Given the description of an element on the screen output the (x, y) to click on. 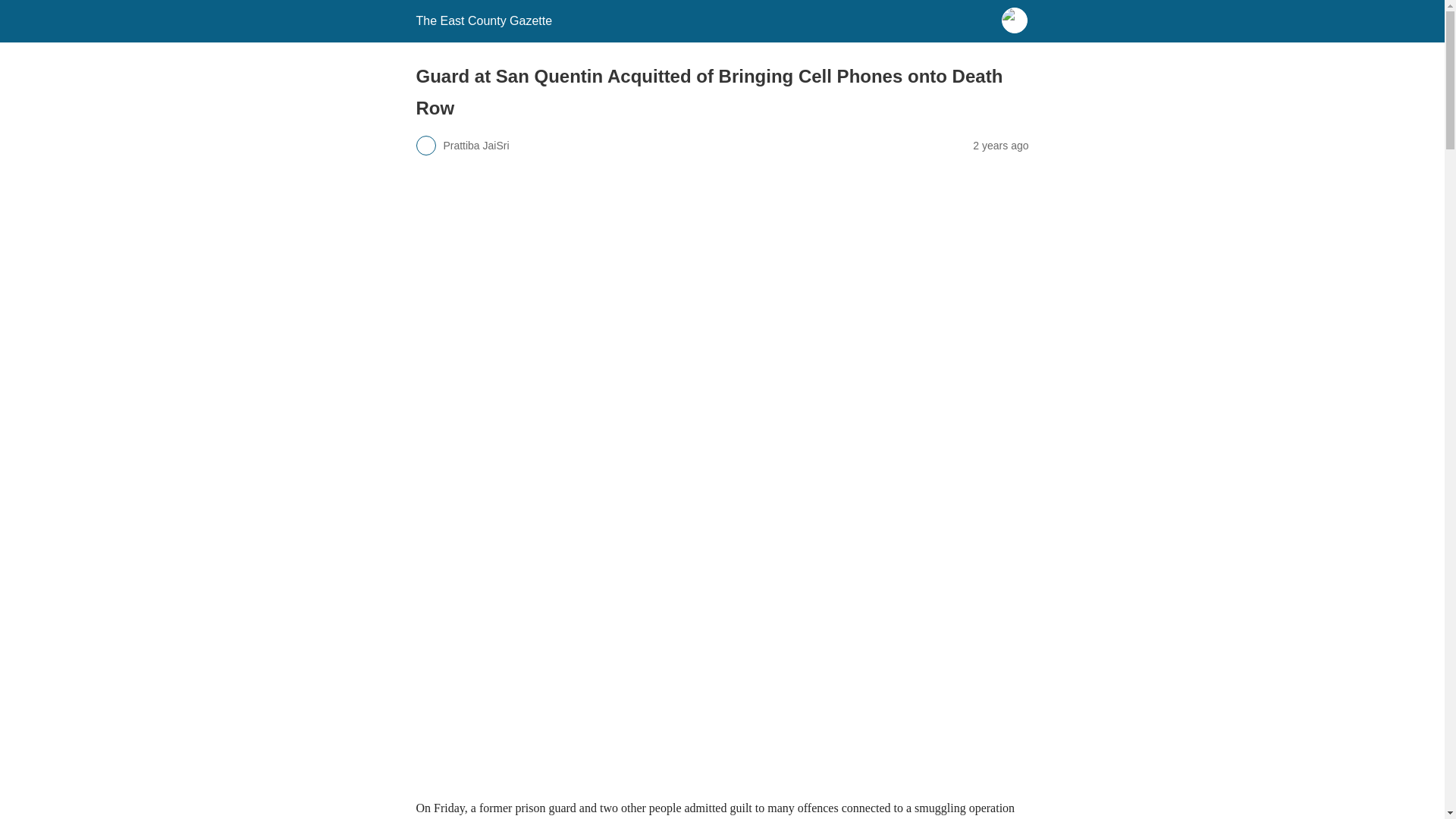
The East County Gazette (482, 20)
